Given the description of an element on the screen output the (x, y) to click on. 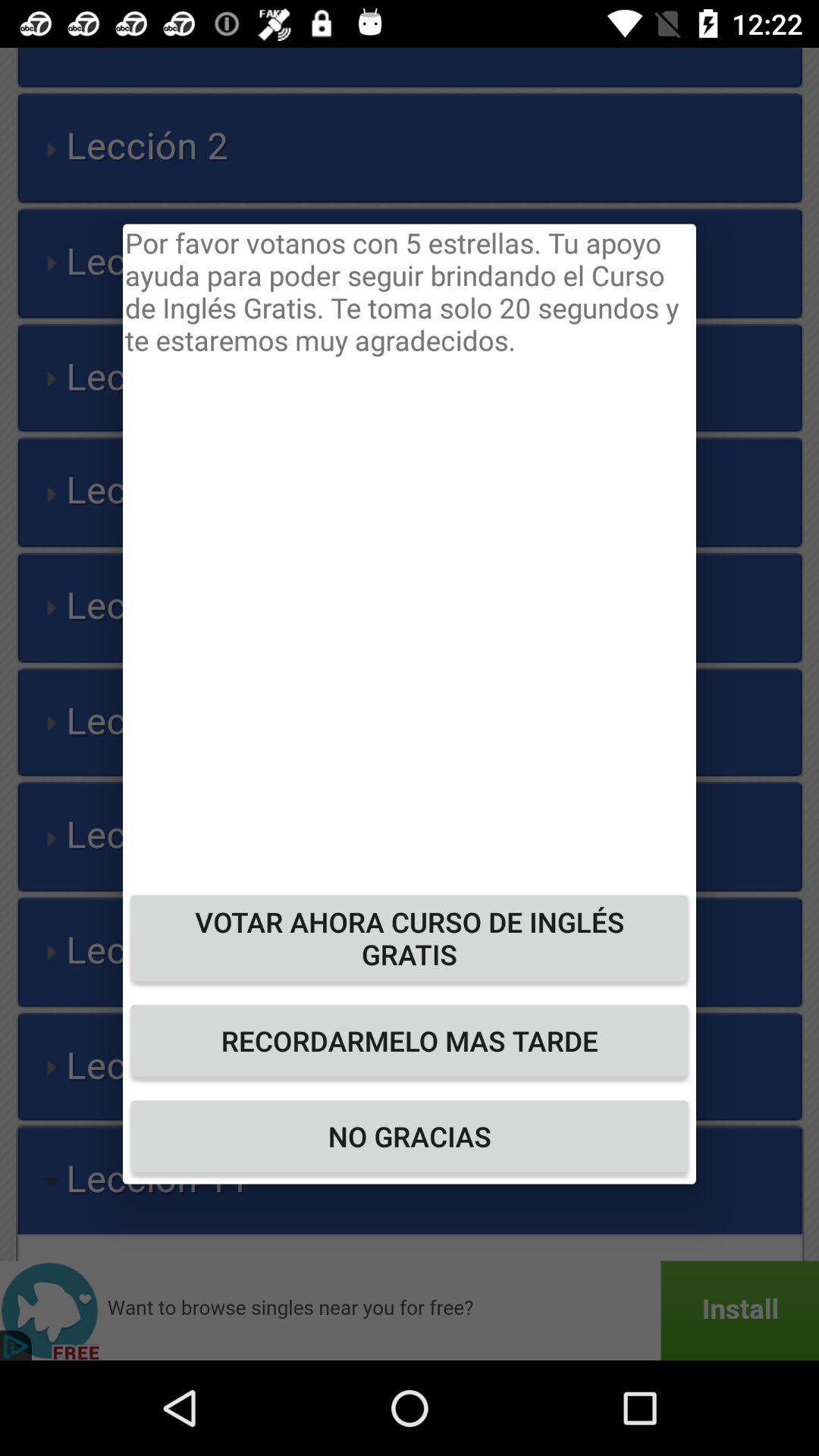
turn off the icon above recordarmelo mas tarde item (409, 938)
